Given the description of an element on the screen output the (x, y) to click on. 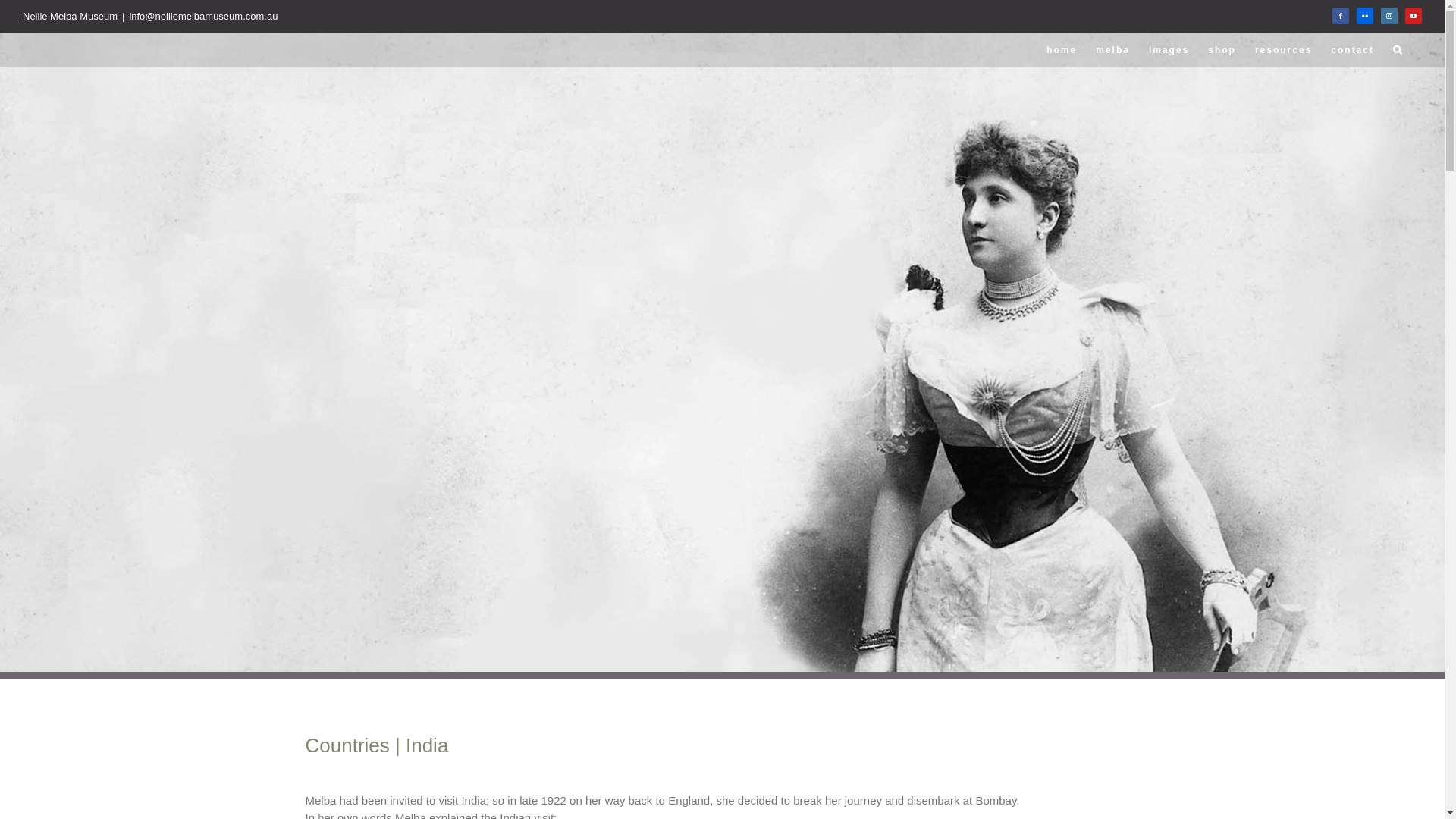
contact Element type: text (1352, 49)
Facebook Element type: text (1340, 15)
home Element type: text (1061, 49)
resources Element type: text (1283, 49)
images Element type: text (1168, 49)
Search Element type: hover (1397, 49)
shop Element type: text (1222, 49)
Instagram Element type: text (1388, 15)
YouTube Element type: text (1413, 15)
melba Element type: text (1112, 49)
Flickr Element type: text (1364, 15)
info@nelliemelbamuseum.com.au Element type: text (202, 15)
